Given the description of an element on the screen output the (x, y) to click on. 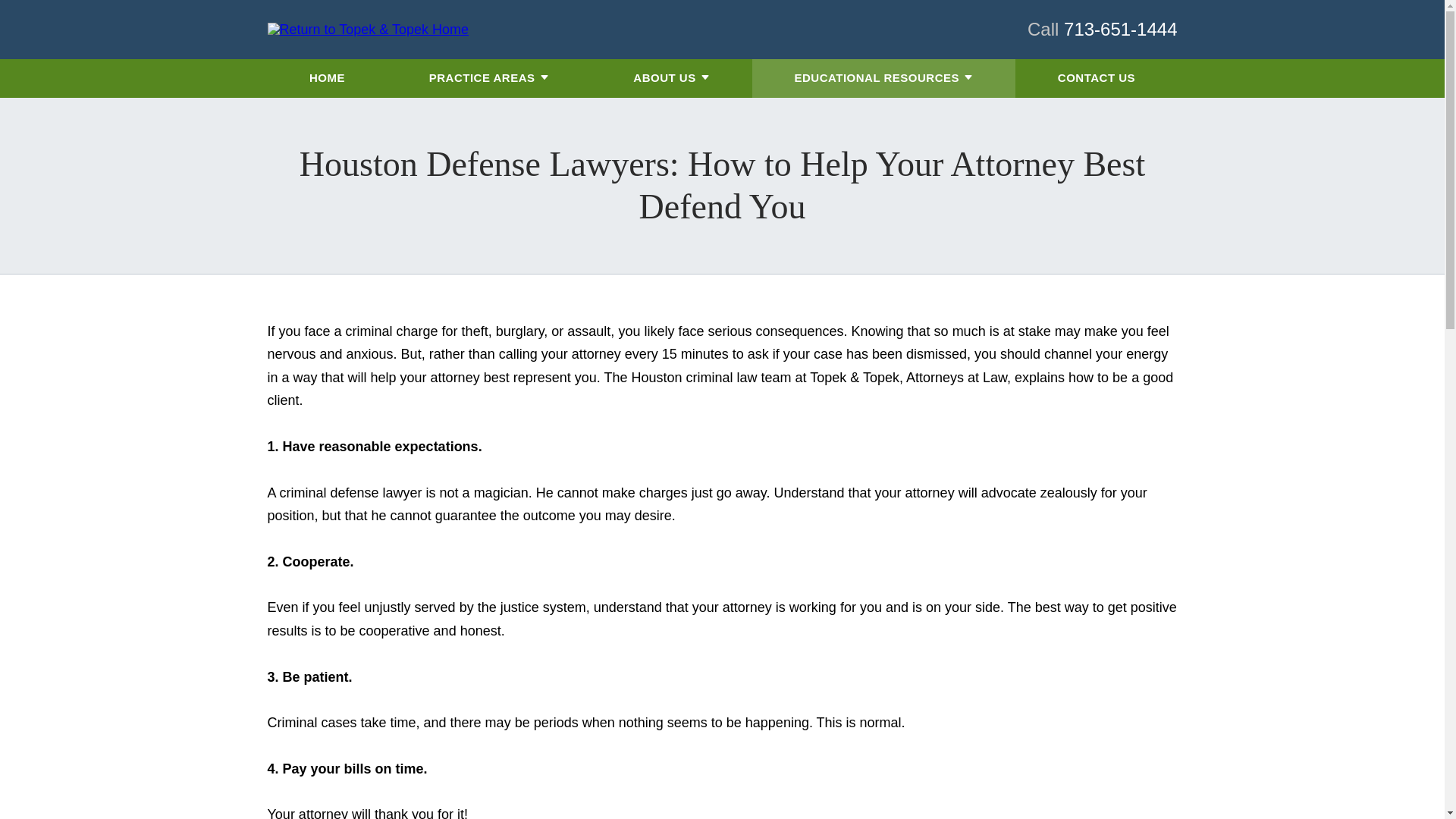
HOME (326, 77)
EDUCATIONAL RESOURCES (876, 77)
PRACTICE AREAS (482, 77)
ABOUT US (664, 77)
call local (1120, 28)
CONTACT US (1096, 77)
713-651-1444 (1120, 28)
